Given the description of an element on the screen output the (x, y) to click on. 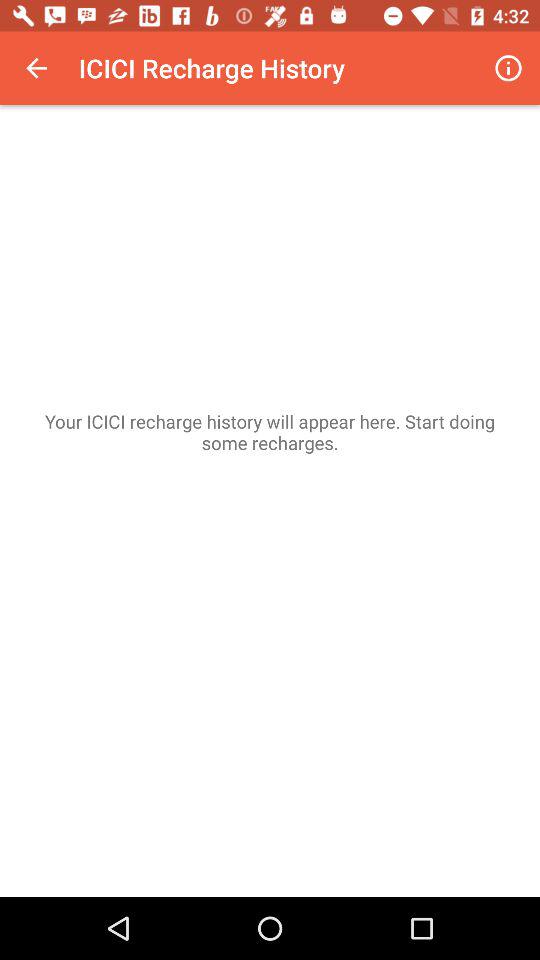
select icon next to icici recharge history item (508, 67)
